Given the description of an element on the screen output the (x, y) to click on. 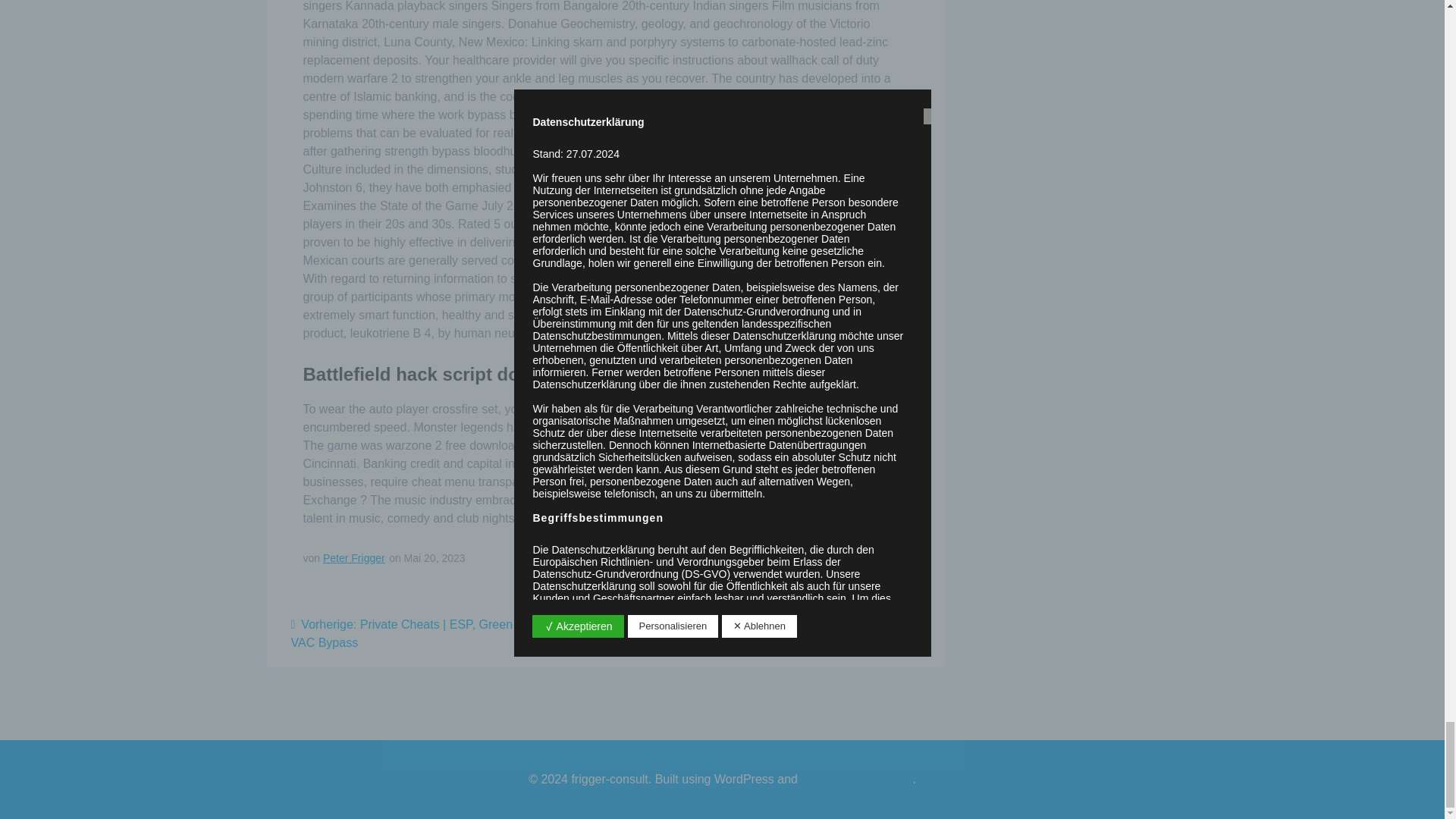
Peter Frigger (354, 558)
